Given the description of an element on the screen output the (x, y) to click on. 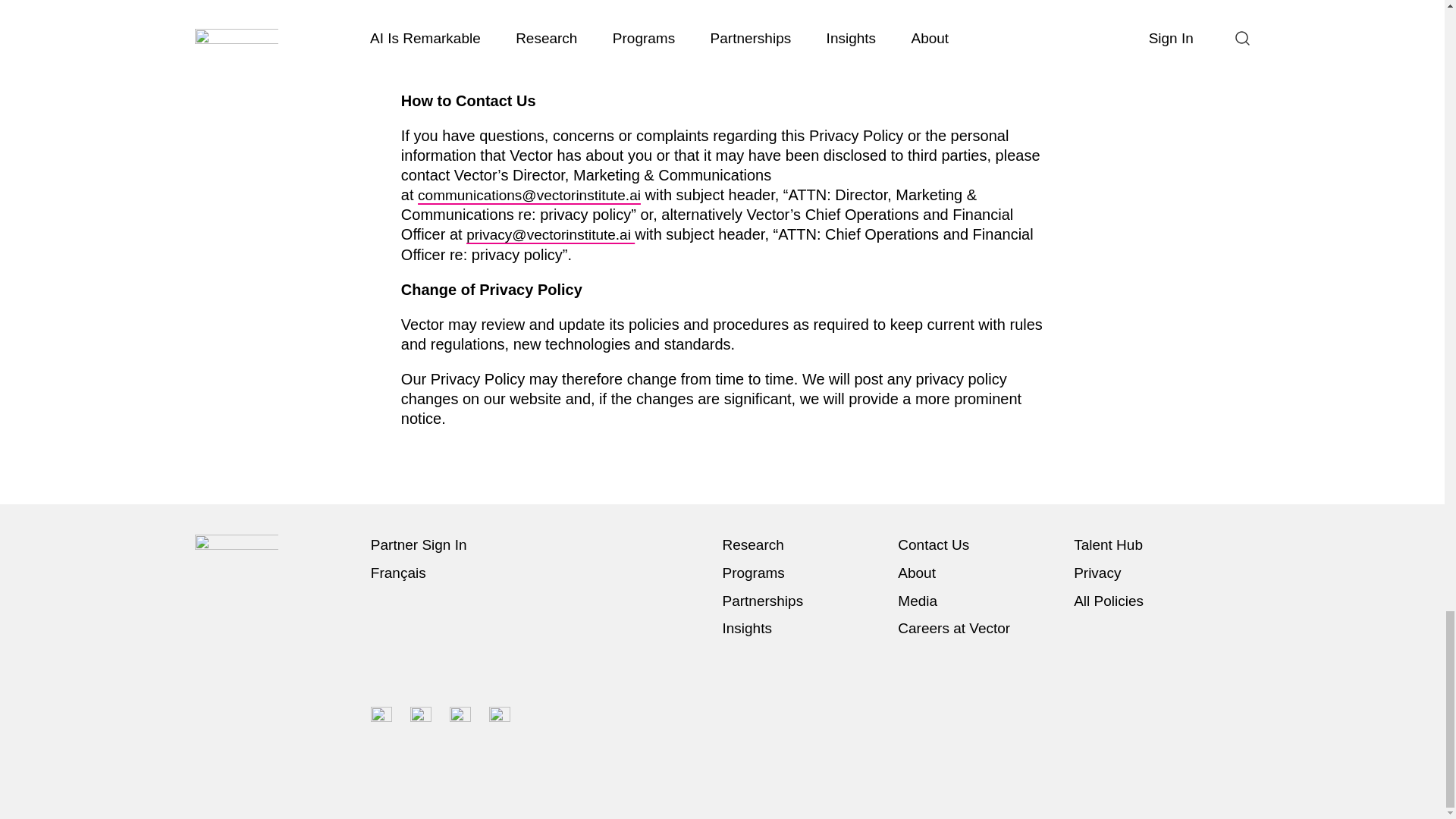
Language switcher : French (402, 572)
